Given the description of an element on the screen output the (x, y) to click on. 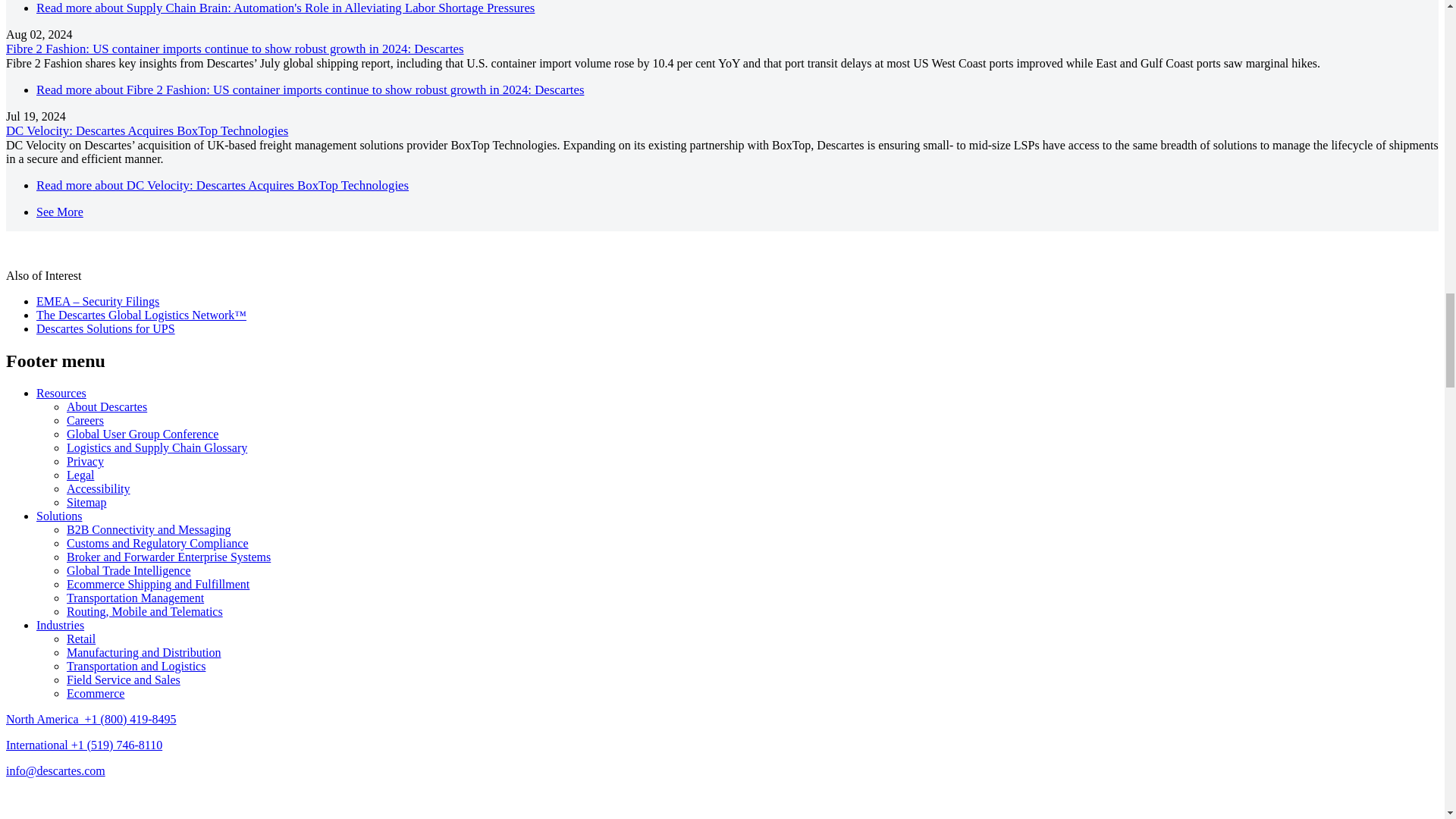
Load more items (59, 211)
DC Velocity: Descartes Acquires BoxTop Technologies (222, 185)
